Given the description of an element on the screen output the (x, y) to click on. 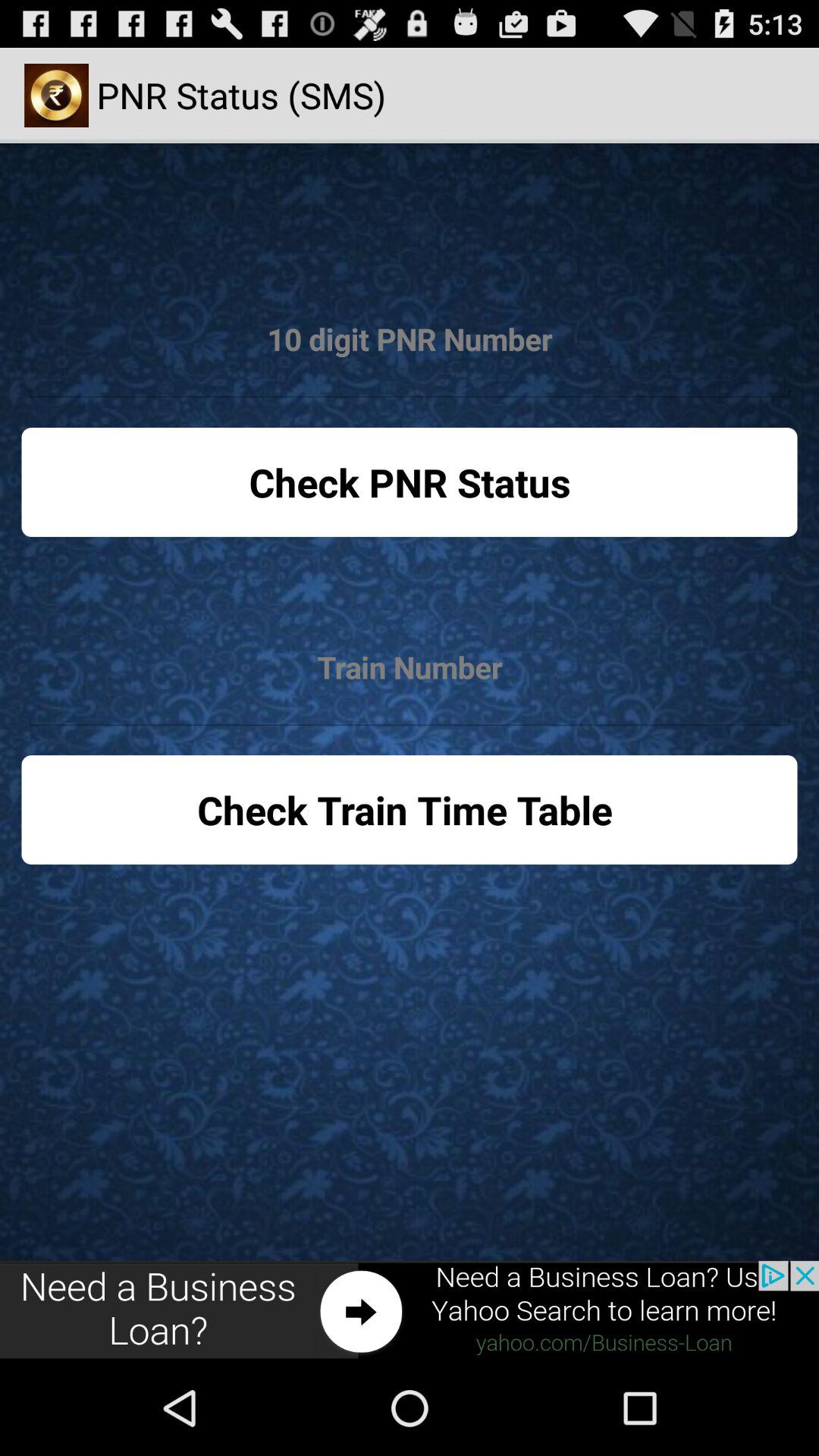
input text (409, 339)
